Given the description of an element on the screen output the (x, y) to click on. 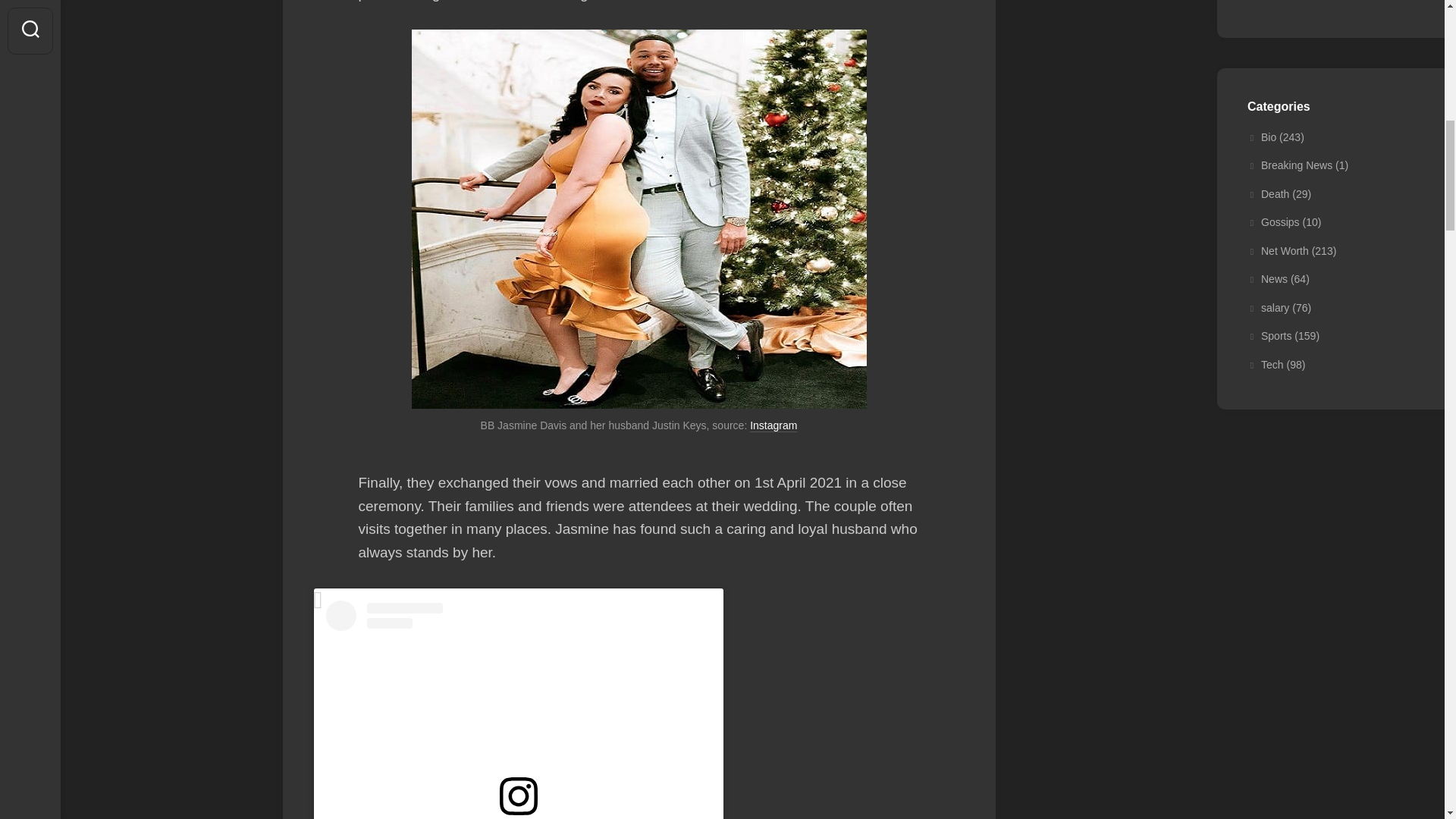
View this post on Instagram (518, 709)
Instagram (772, 425)
